Given the description of an element on the screen output the (x, y) to click on. 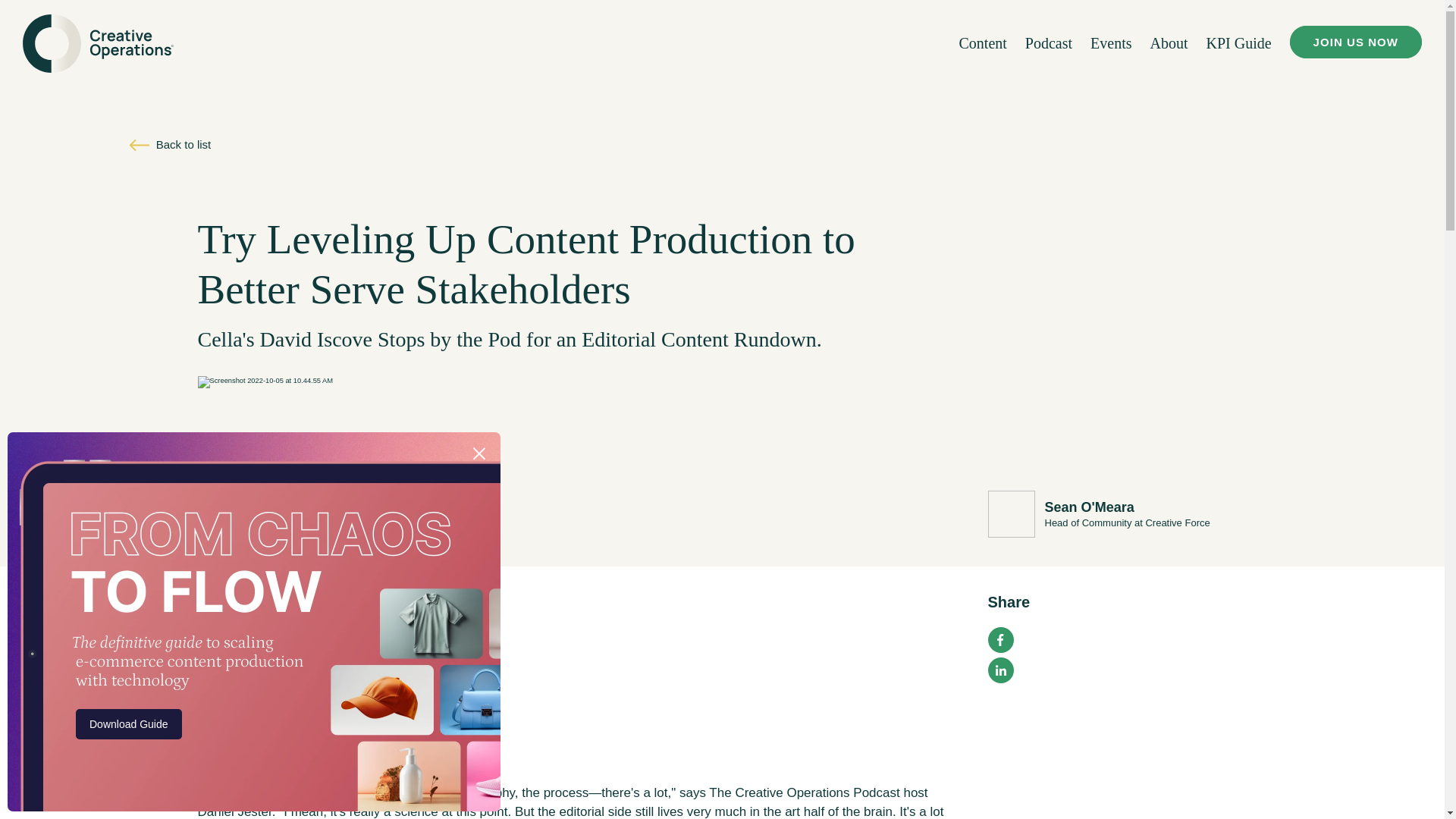
Content (982, 43)
JOIN US NOW (1356, 41)
About (1169, 43)
Sean O'Meara (1089, 507)
Back to list (170, 144)
KPI Guide (1238, 43)
Podcast (1048, 43)
Events (1110, 43)
